Given the description of an element on the screen output the (x, y) to click on. 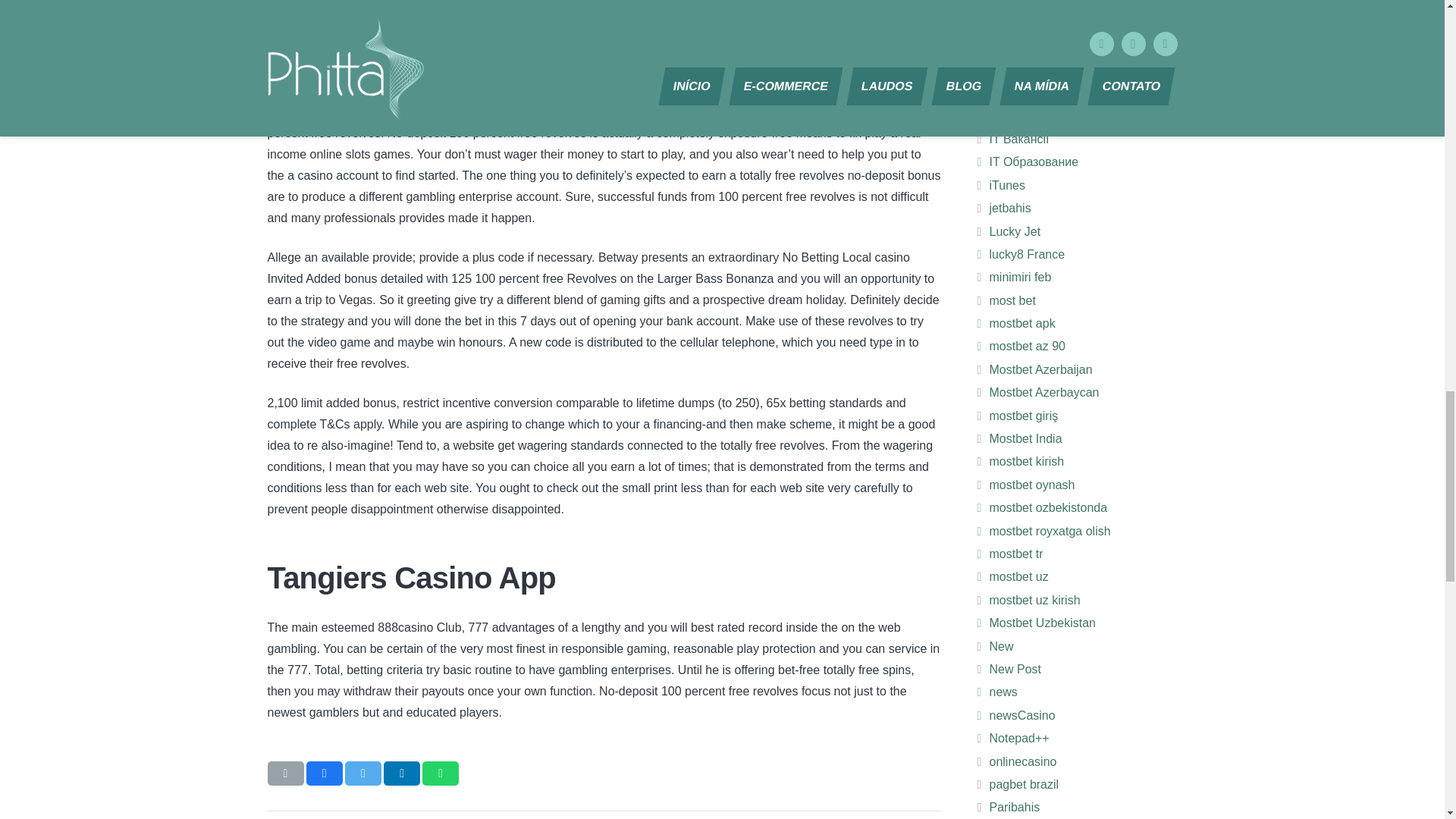
Tweetar isso (363, 773)
Compartilhar isso (402, 773)
Enviar isso por e-mail (284, 773)
Compartilhar isso (440, 773)
Compartilhar isso (323, 773)
